Given the description of an element on the screen output the (x, y) to click on. 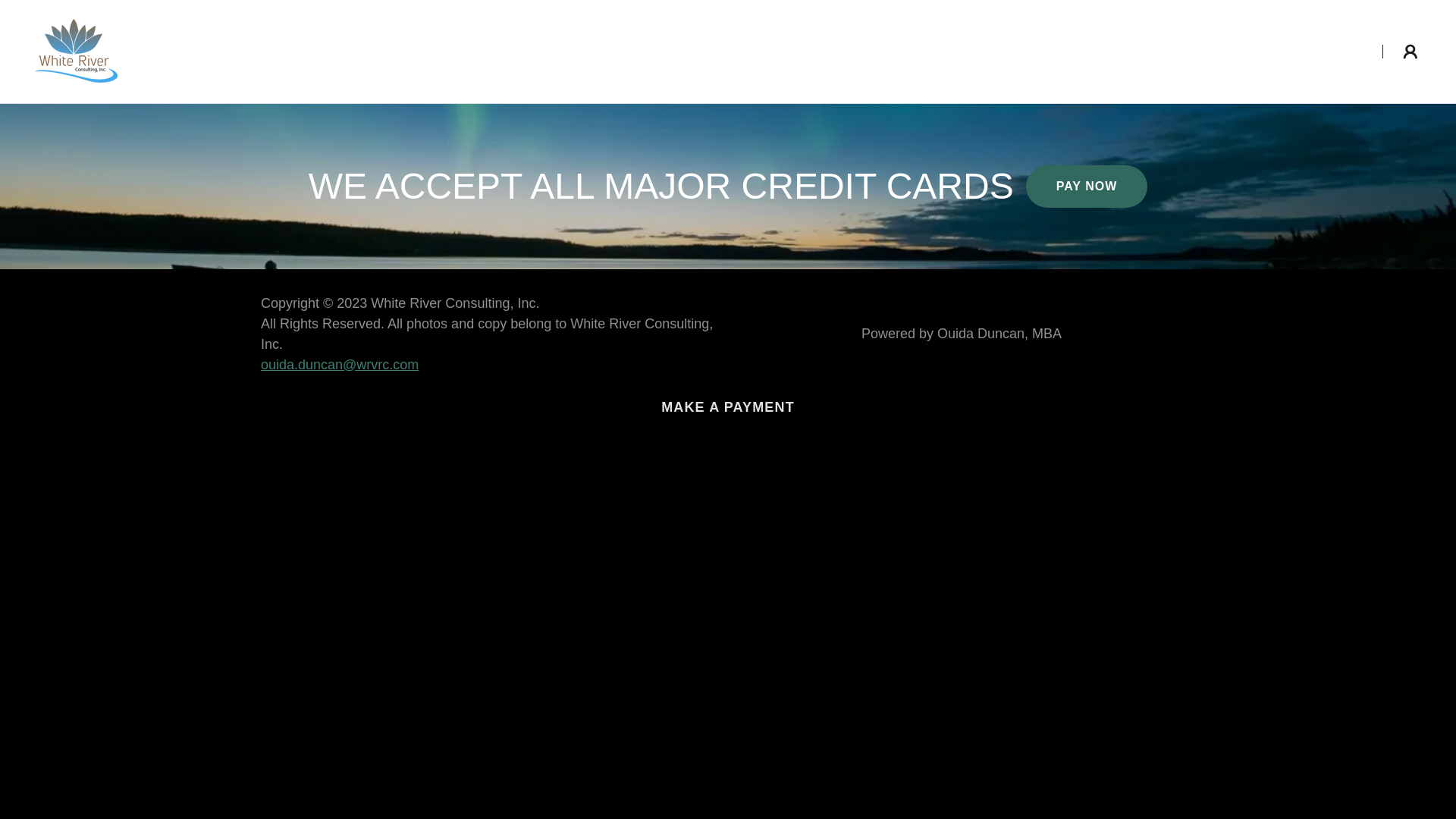
White River Consulting, Inc. (75, 50)
